Given the description of an element on the screen output the (x, y) to click on. 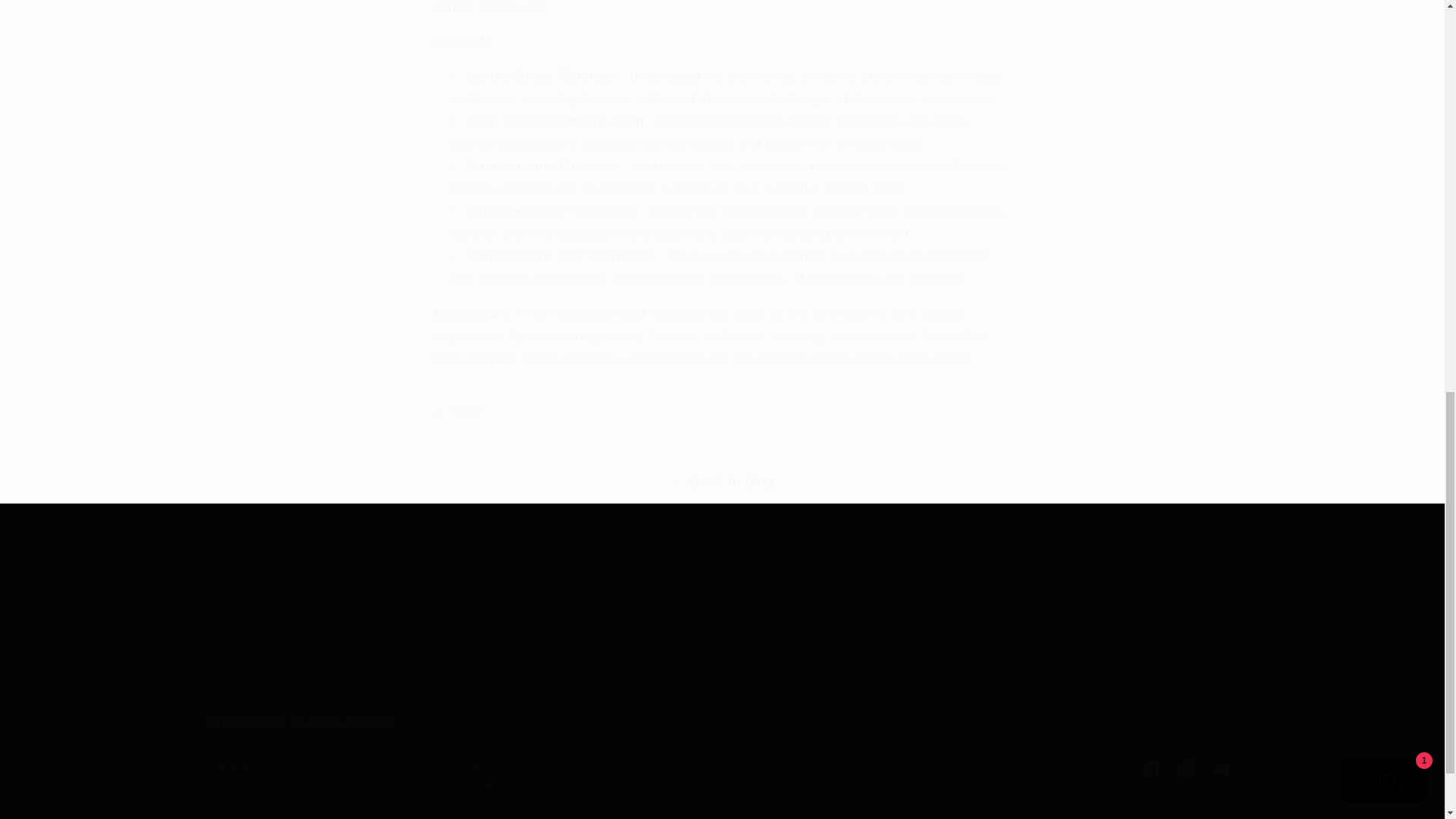
YouTube (1073, 634)
About us (1222, 769)
Instagram (931, 605)
Facebook (1187, 769)
Share (1151, 769)
Contact Us (721, 410)
